Given the description of an element on the screen output the (x, y) to click on. 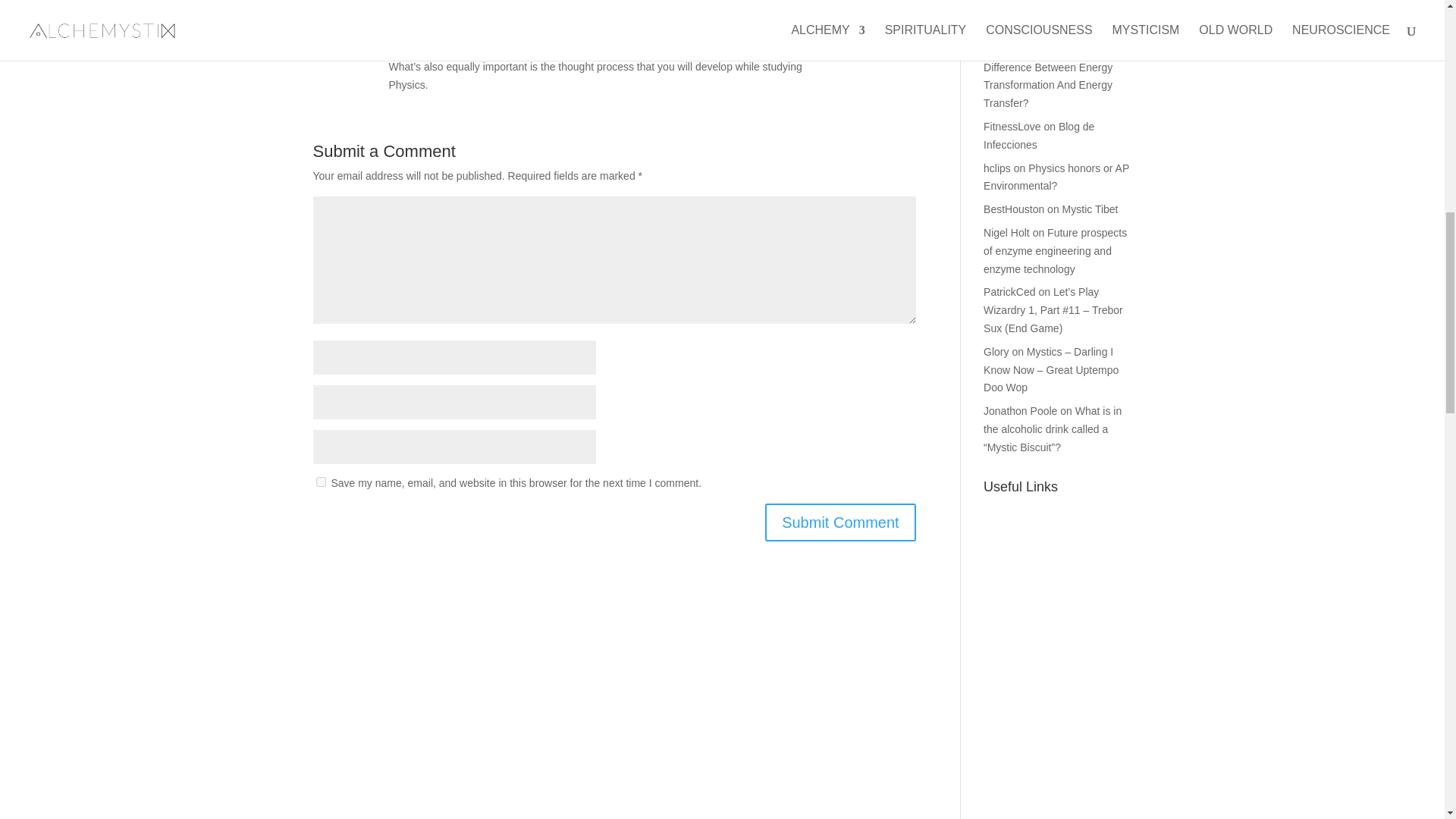
hclips (997, 168)
Submit Comment (840, 522)
Submit Comment (840, 522)
Blog de Infecciones (1039, 135)
ct303.aspx (1009, 49)
FitnessLove (1012, 126)
yes (319, 481)
